Given the description of an element on the screen output the (x, y) to click on. 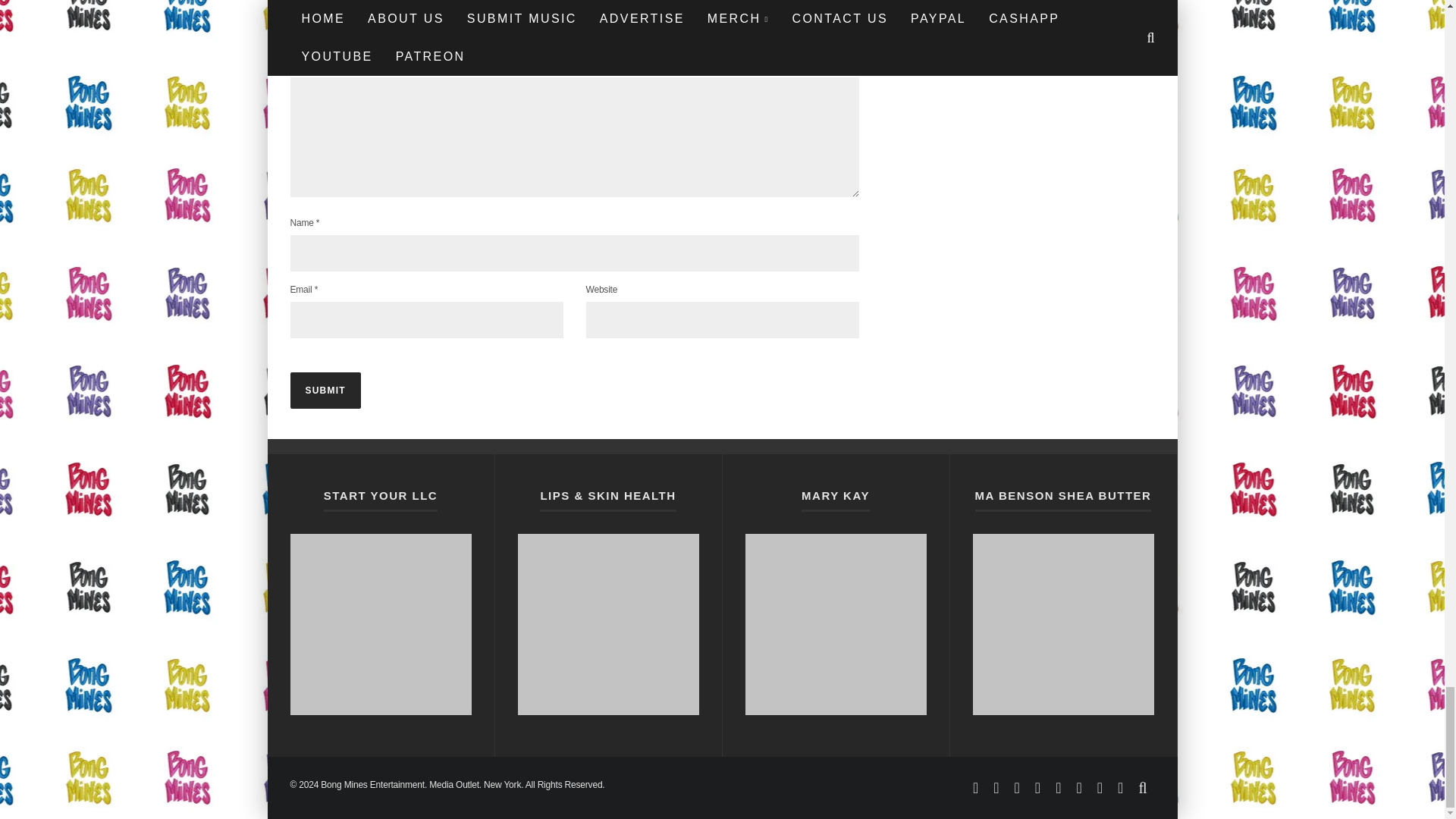
Take a Look... Audiobook (835, 623)
Pineapple In da SUN Spotify playlist (379, 623)
Ma Benson Shea BUtter (1062, 623)
Submit (324, 390)
